Given the description of an element on the screen output the (x, y) to click on. 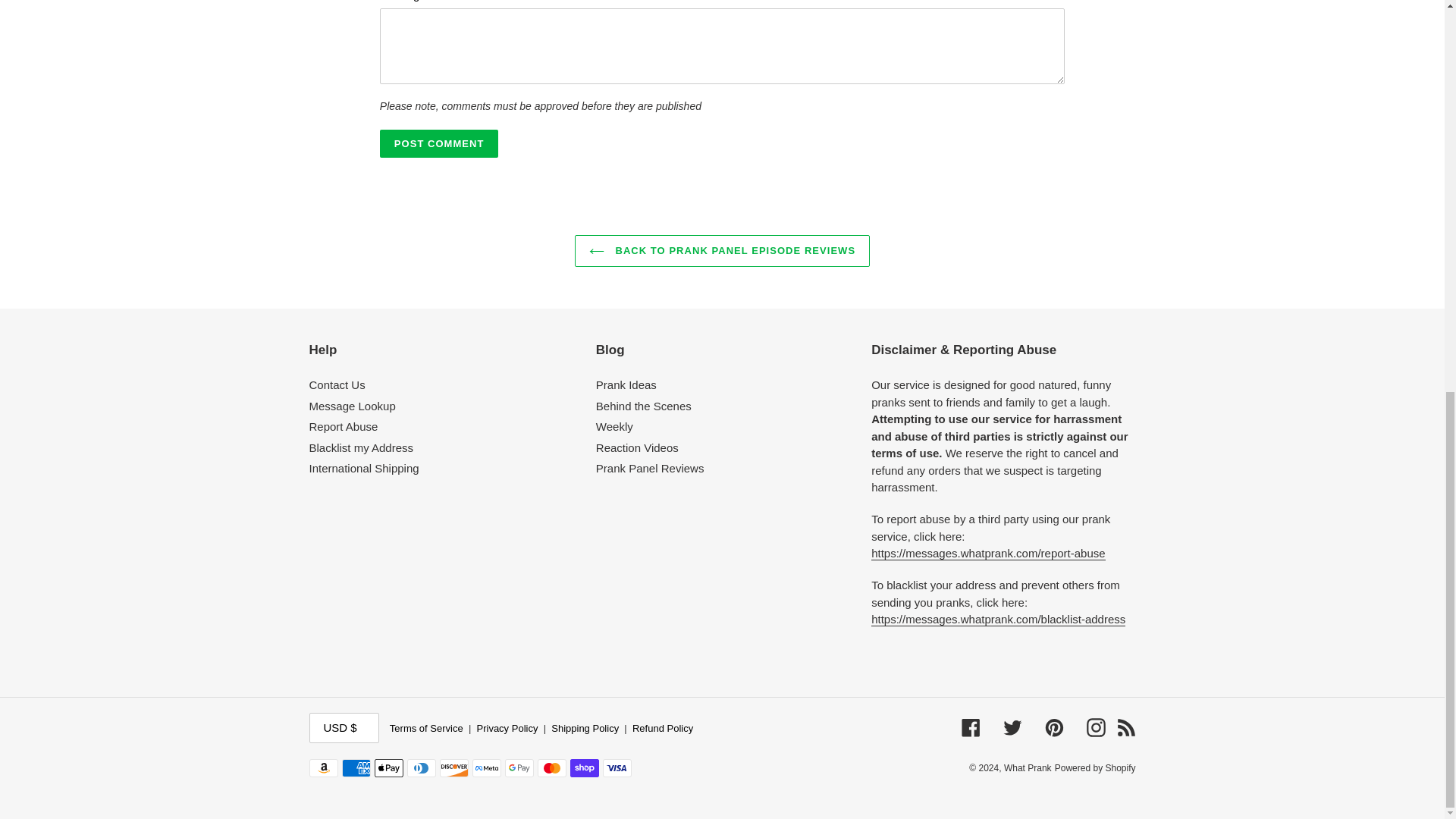
Prank Panel Reviews (649, 468)
Behind the Scenes (643, 405)
Contact Us (336, 384)
Prank Ideas (625, 384)
Reaction Videos (636, 447)
Message Lookup (352, 405)
Post comment (439, 143)
BACK TO PRANK PANEL EPISODE REVIEWS (722, 250)
Blacklist my Address (360, 447)
Report Abuse (343, 426)
